Given the description of an element on the screen output the (x, y) to click on. 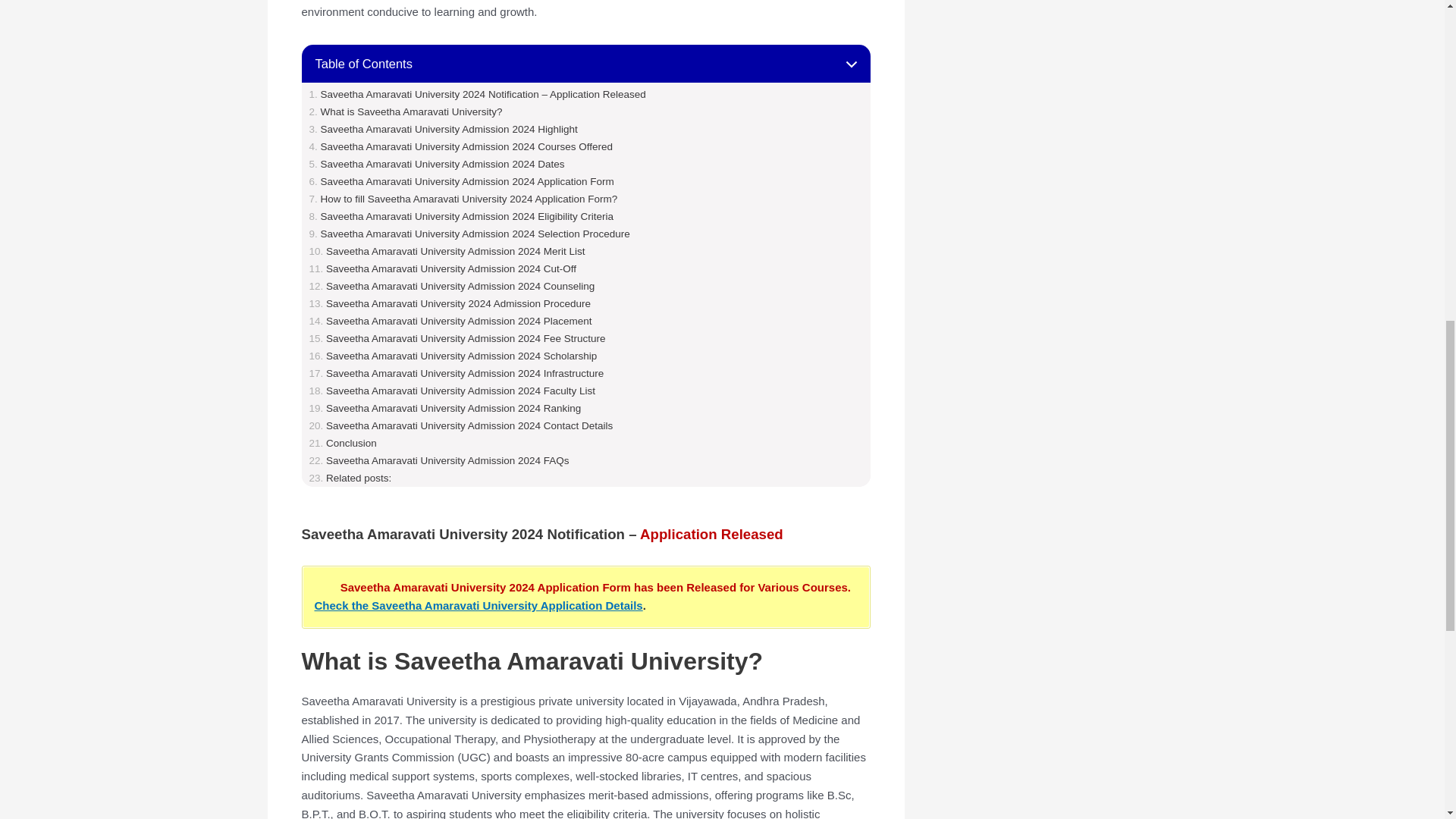
Saveetha Amaravati University Admission 2024 Dates (436, 163)
What is Saveetha Amaravati University? (405, 111)
Saveetha Amaravati University Admission 2024 Highlight (443, 129)
Saveetha Amaravati University Admission 2024 Courses Offered (460, 146)
